Given the description of an element on the screen output the (x, y) to click on. 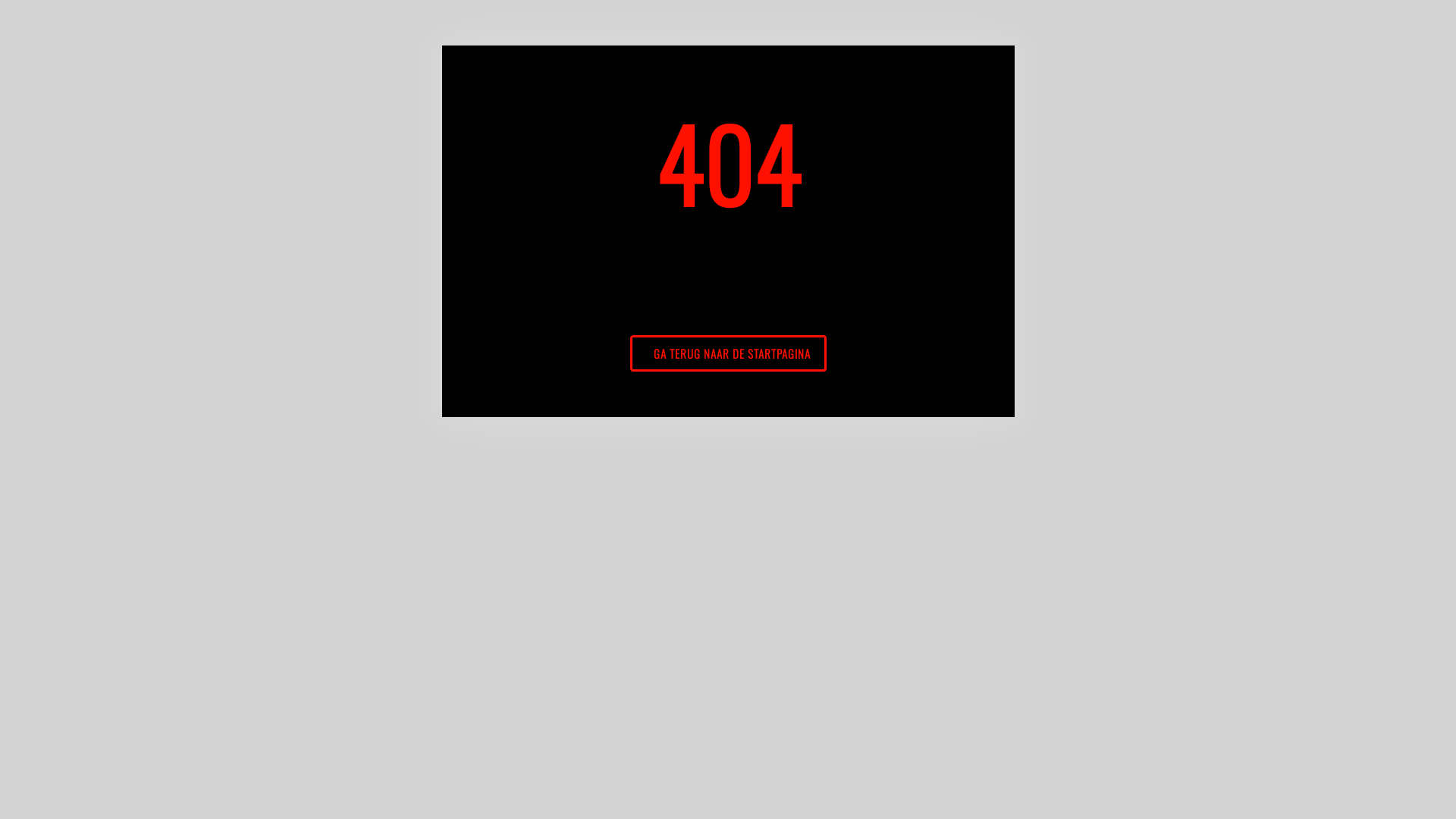
GA TERUG NAAR DE STARTPAGINA Element type: text (727, 353)
